Given the description of an element on the screen output the (x, y) to click on. 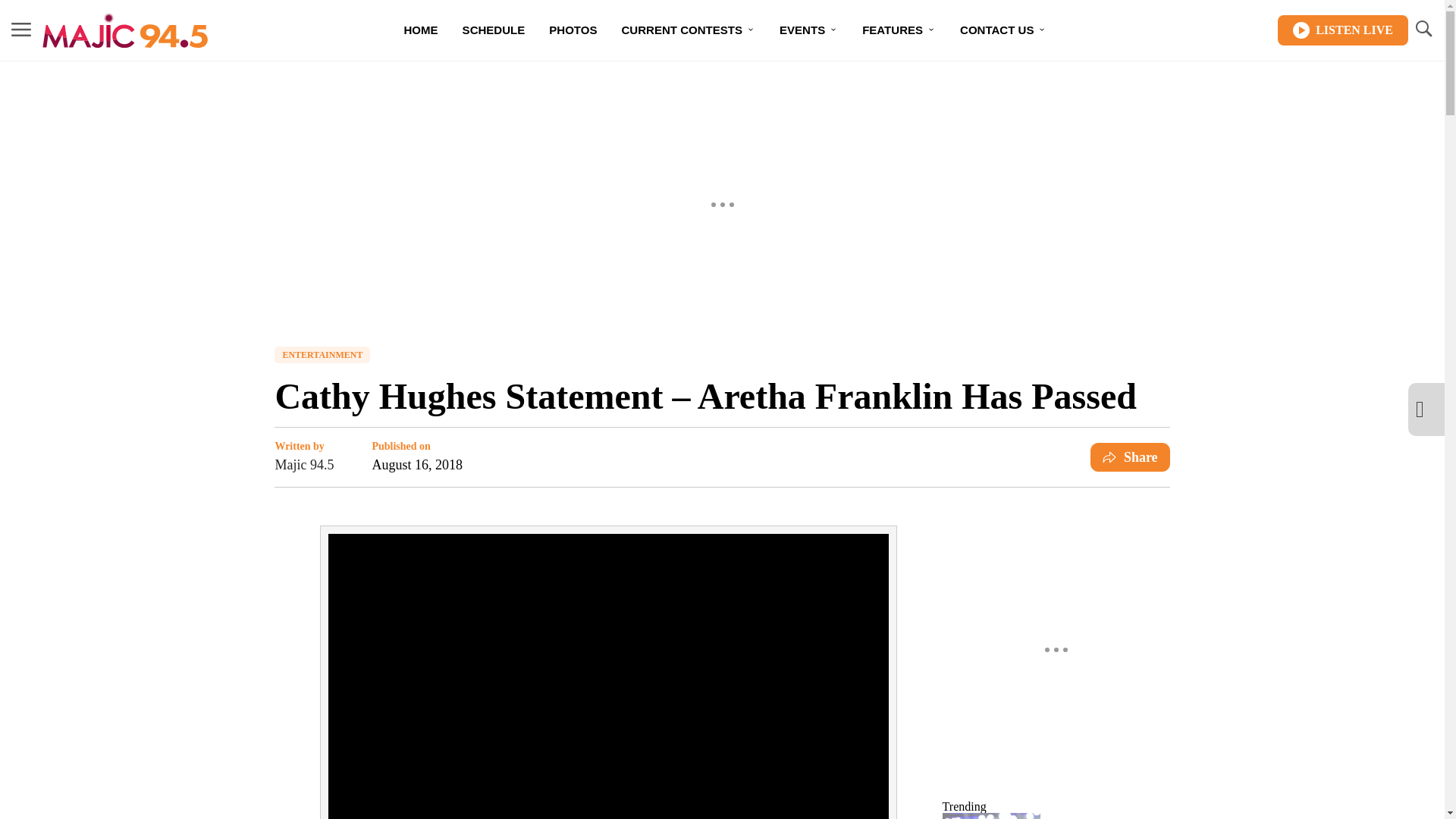
MENU (20, 29)
EVENTS (808, 30)
CURRENT CONTESTS (689, 30)
TOGGLE SEARCH (1422, 30)
FEATURES (898, 30)
PHOTOS (572, 30)
MENU (20, 30)
Majic 94.5 (304, 464)
HOME (420, 30)
TOGGLE SEARCH (1422, 28)
